Given the description of an element on the screen output the (x, y) to click on. 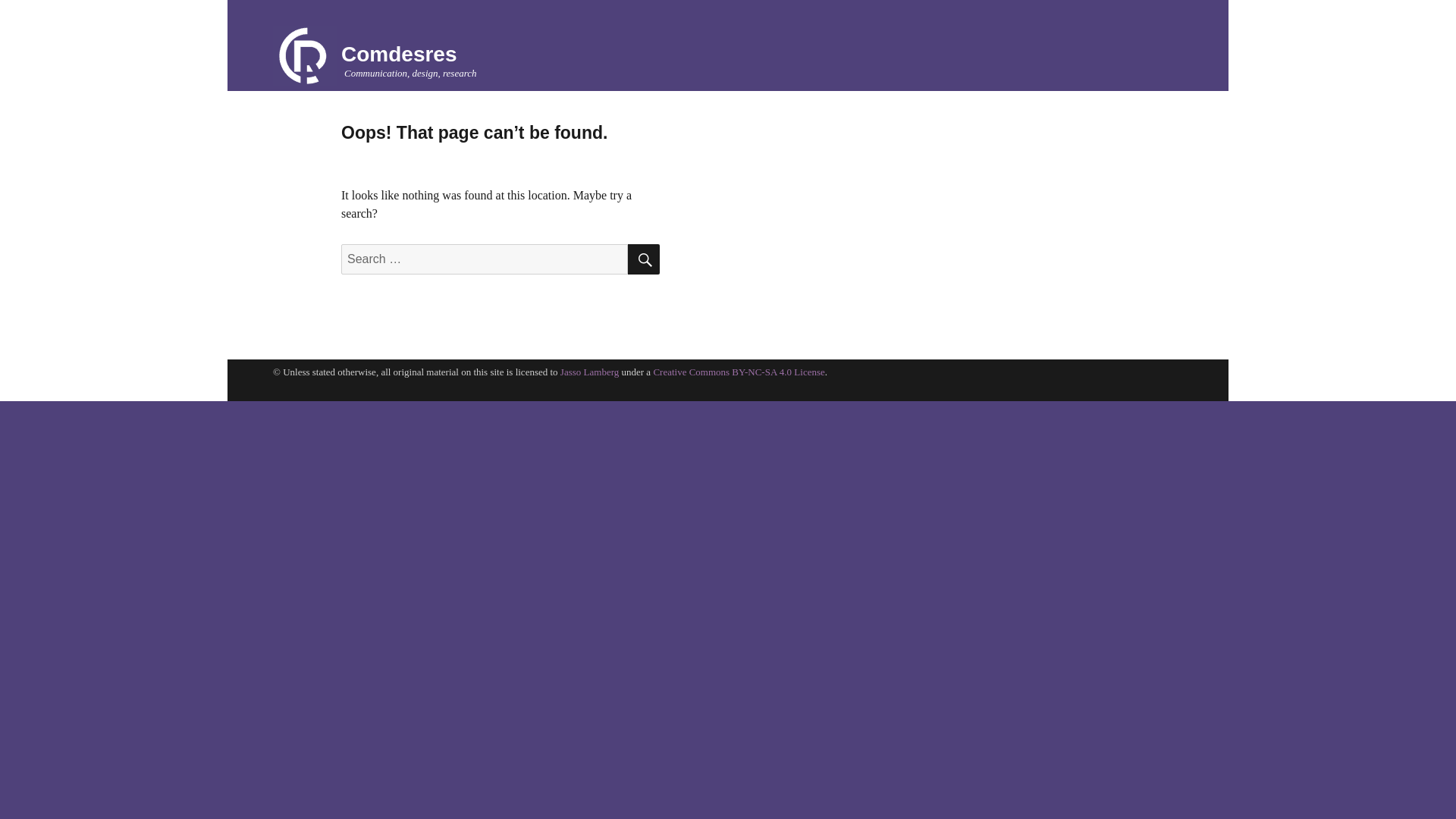
Creative Commons BY-NC-SA 4.0 License (738, 371)
SEARCH (643, 259)
Jasso Lamberg (589, 371)
Comdesres (306, 55)
